Given the description of an element on the screen output the (x, y) to click on. 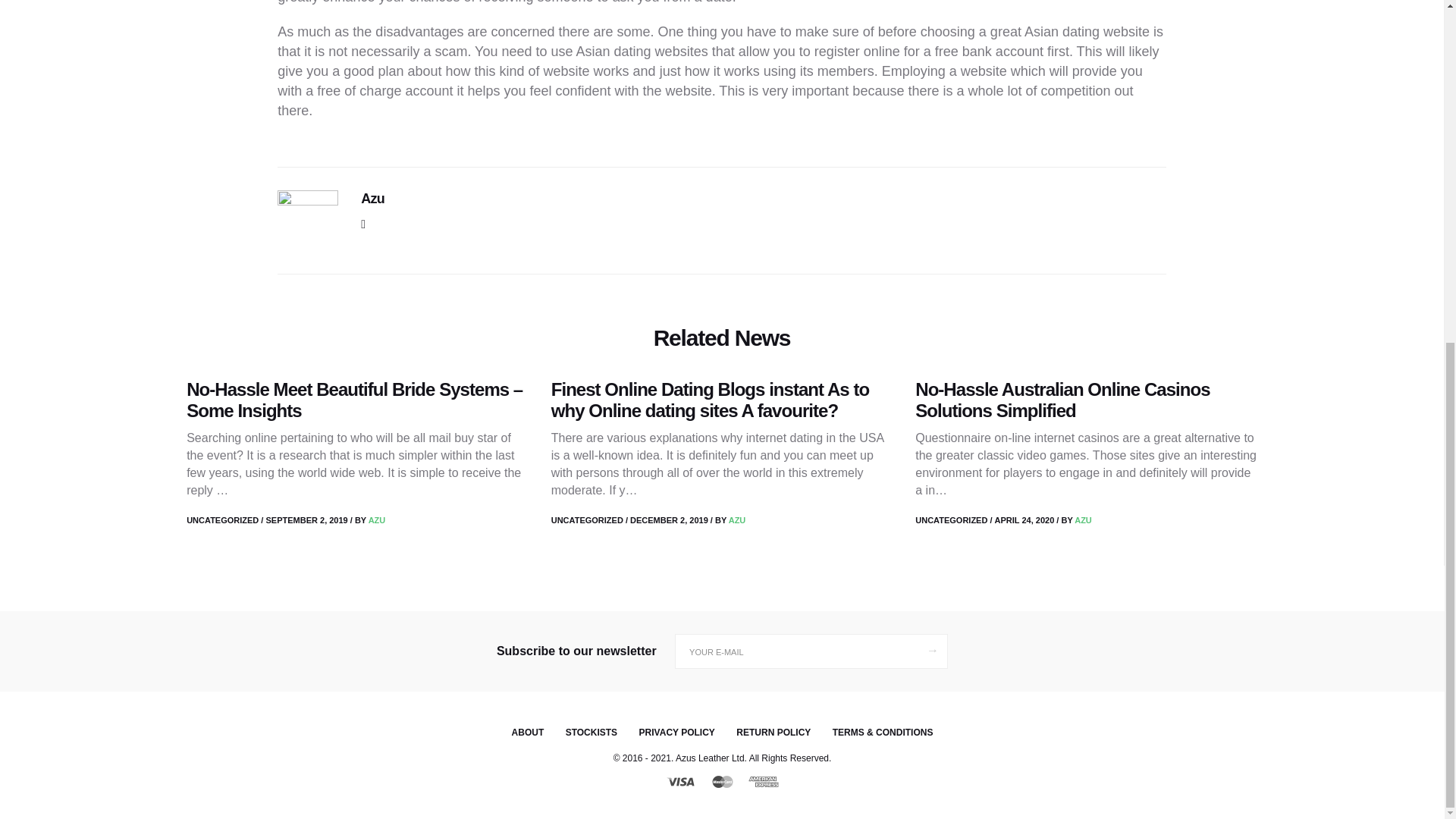
No-Hassle Australian Online Casinos Solutions Simplified (1062, 399)
Posts by Azu (737, 519)
Posts by Azu (1083, 519)
Posts by Azu (376, 519)
Azu (372, 198)
UNCATEGORIZED (222, 519)
AZU (376, 519)
